Given the description of an element on the screen output the (x, y) to click on. 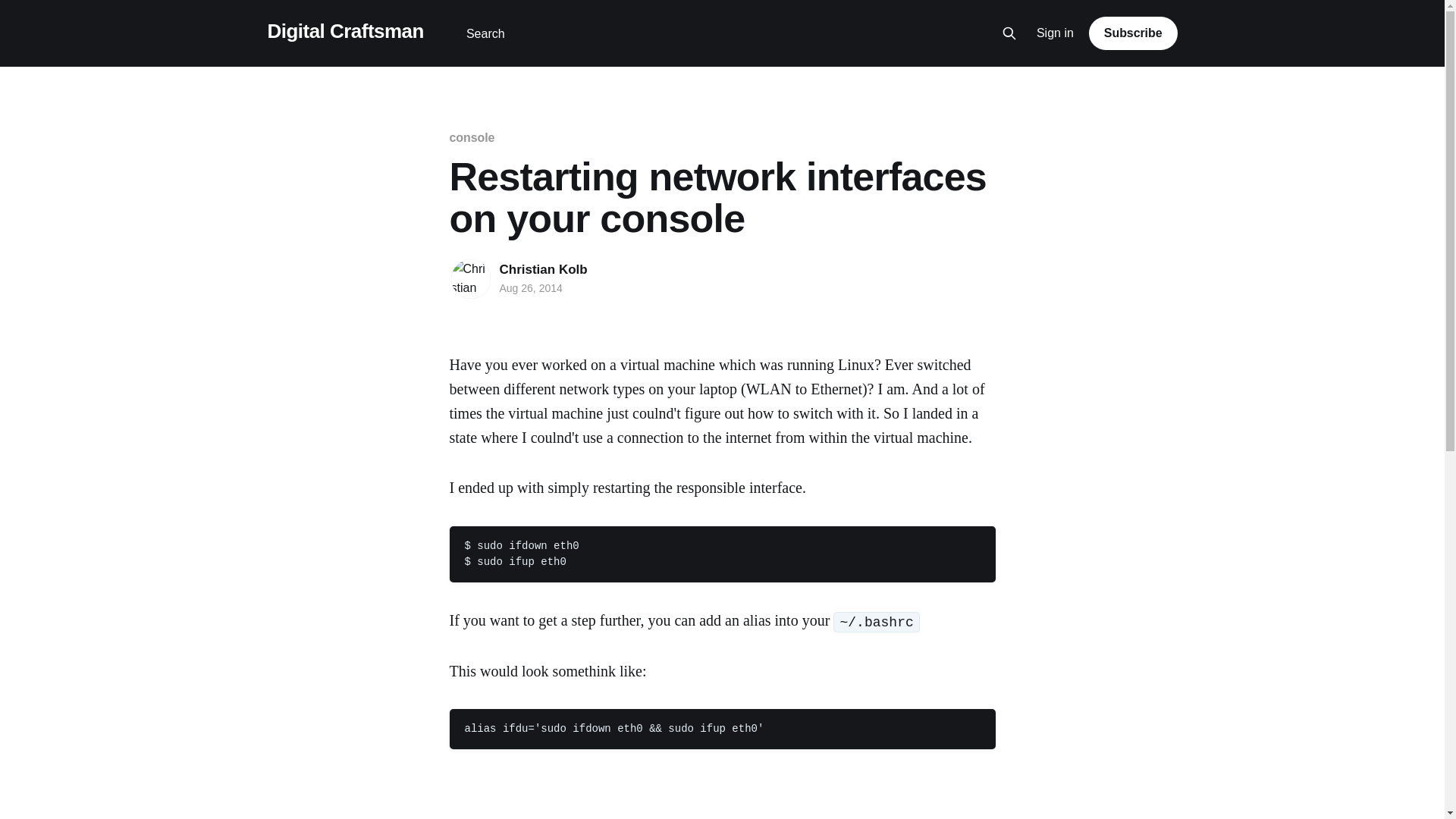
console (471, 137)
Sign in (1055, 33)
Search (485, 33)
Subscribe (1133, 32)
Christian Kolb (542, 269)
Digital Craftsman (344, 31)
